Given the description of an element on the screen output the (x, y) to click on. 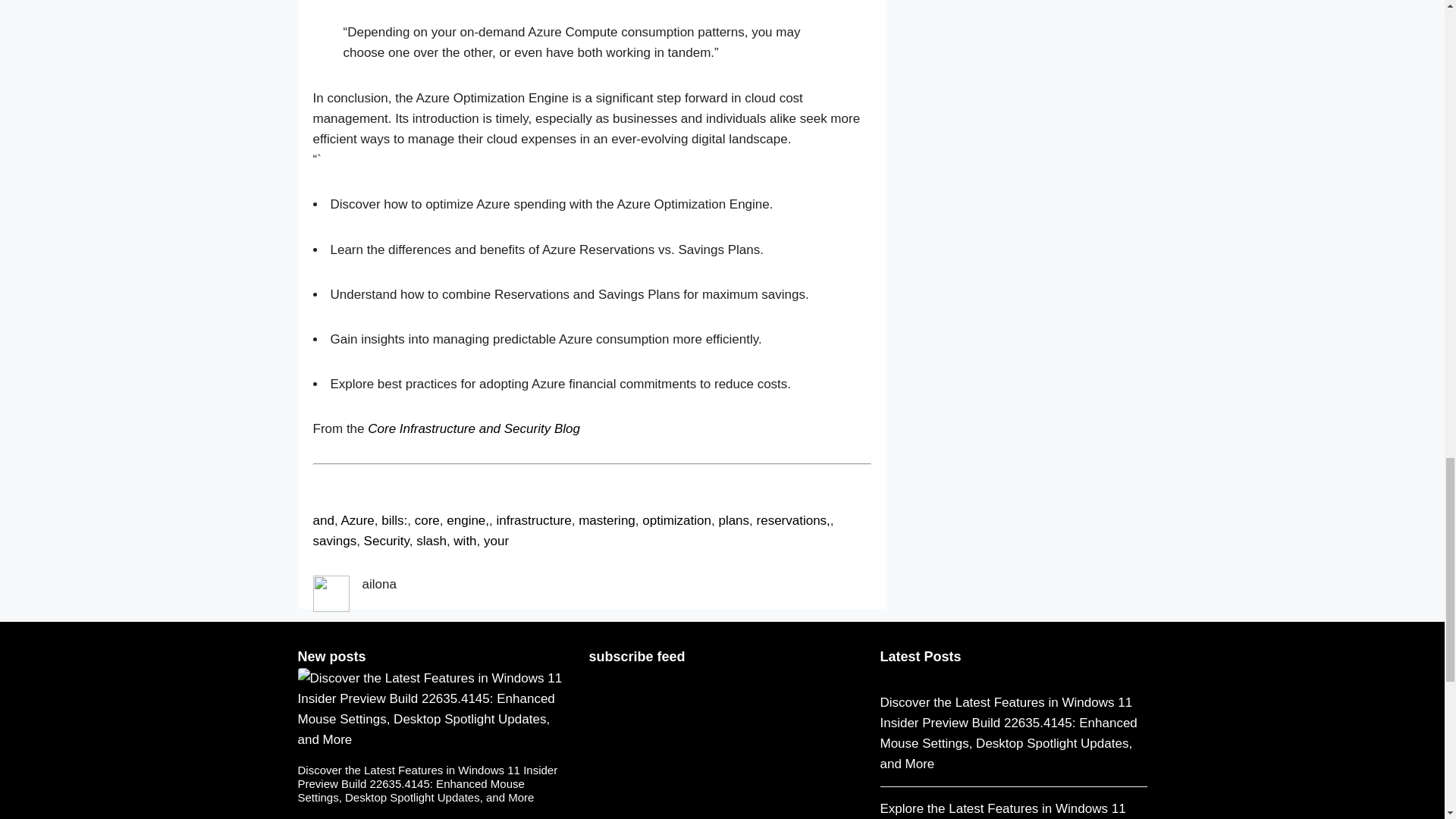
mastering (606, 520)
engine, (467, 520)
infrastructure (533, 520)
and (323, 520)
with (464, 540)
bills: (394, 520)
slash (431, 540)
Azure (357, 520)
plans (733, 520)
core (426, 520)
